Given the description of an element on the screen output the (x, y) to click on. 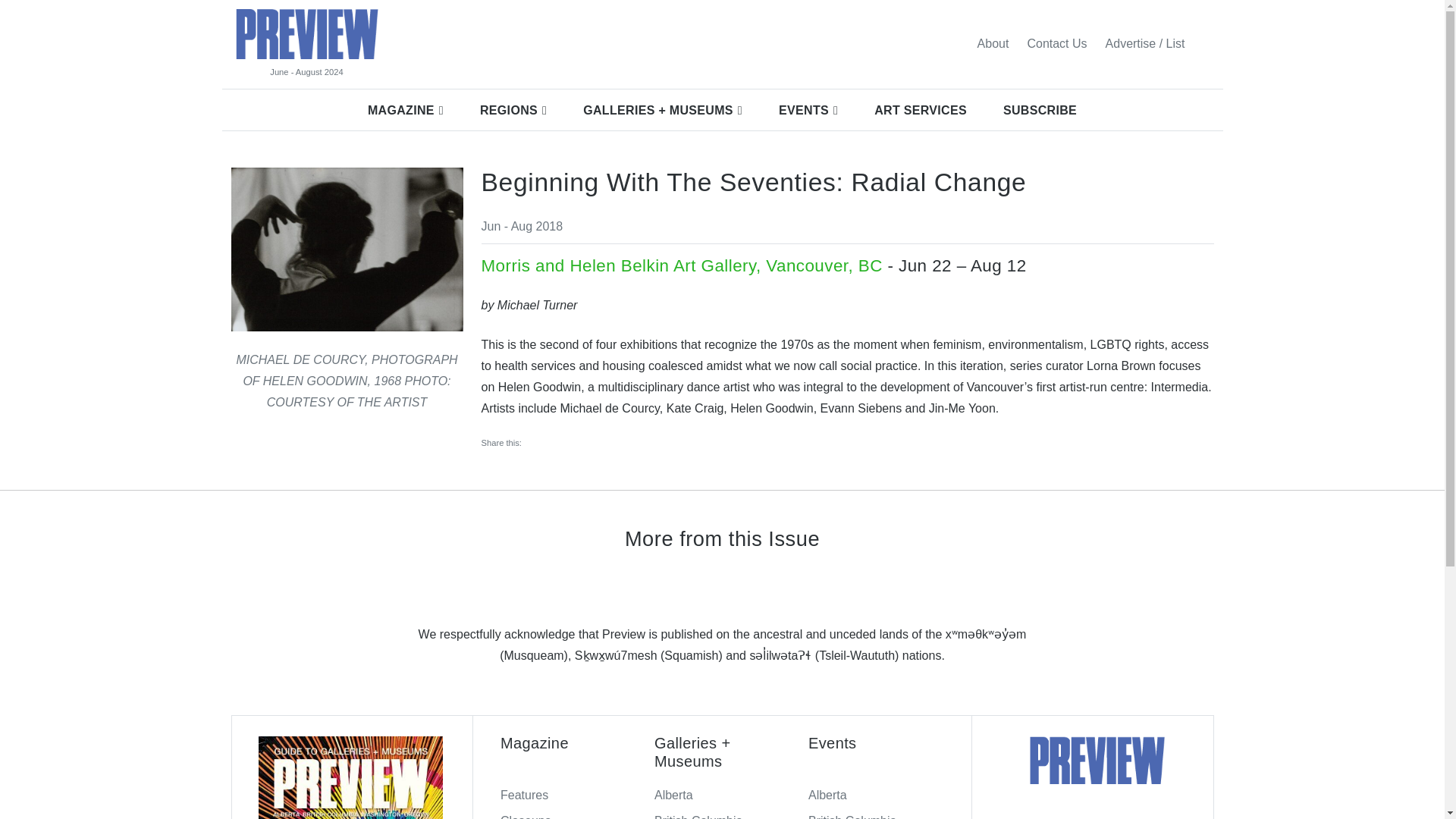
EVENTS (808, 110)
Morris and Helen Belkin Art Gallery, Vancouver, BC (681, 265)
MAGAZINE (405, 110)
June - August 2024 (305, 71)
About (992, 43)
SUBSCRIBE (1039, 110)
REGIONS (512, 110)
Open Search (1202, 43)
Contact Us (1056, 43)
ART SERVICES (920, 110)
Jun - Aug 2018 (521, 226)
